Given the description of an element on the screen output the (x, y) to click on. 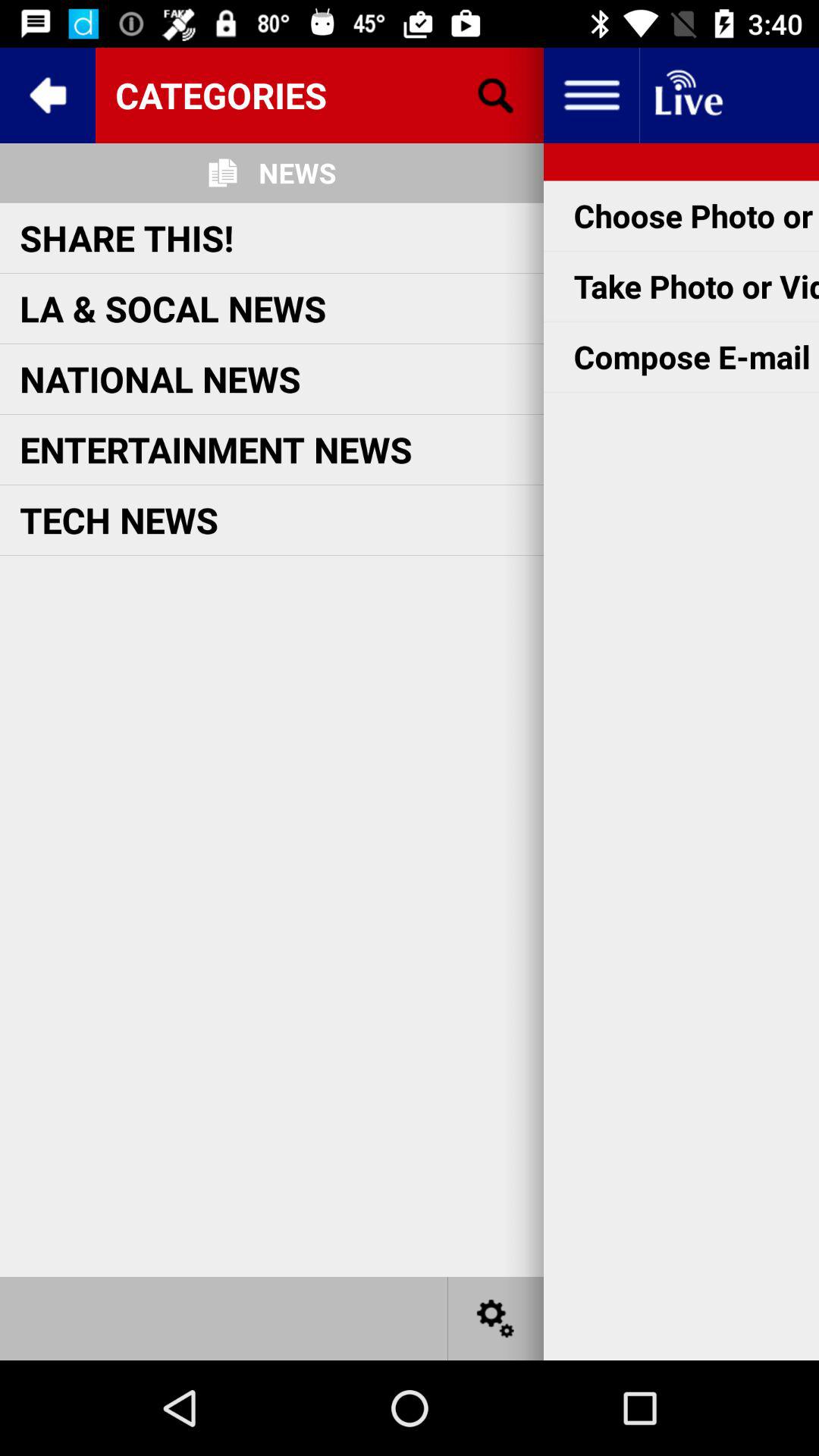
press the icon above news icon (319, 95)
